Given the description of an element on the screen output the (x, y) to click on. 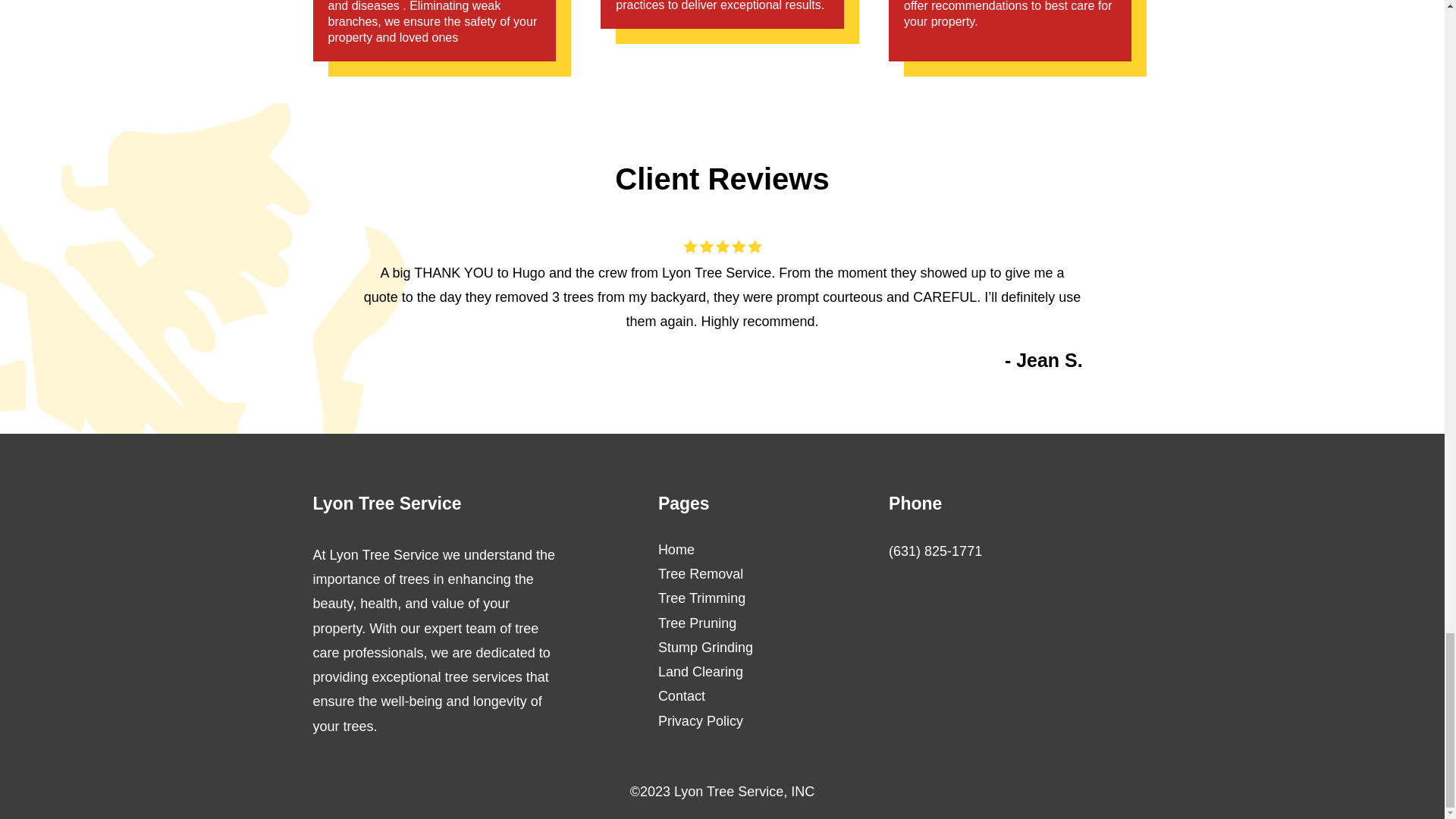
Tree Removal (700, 573)
Stump Grinding (705, 647)
Home (676, 549)
Tree Trimming (701, 598)
Land Clearing (700, 671)
Tree Pruning (697, 622)
